Given the description of an element on the screen output the (x, y) to click on. 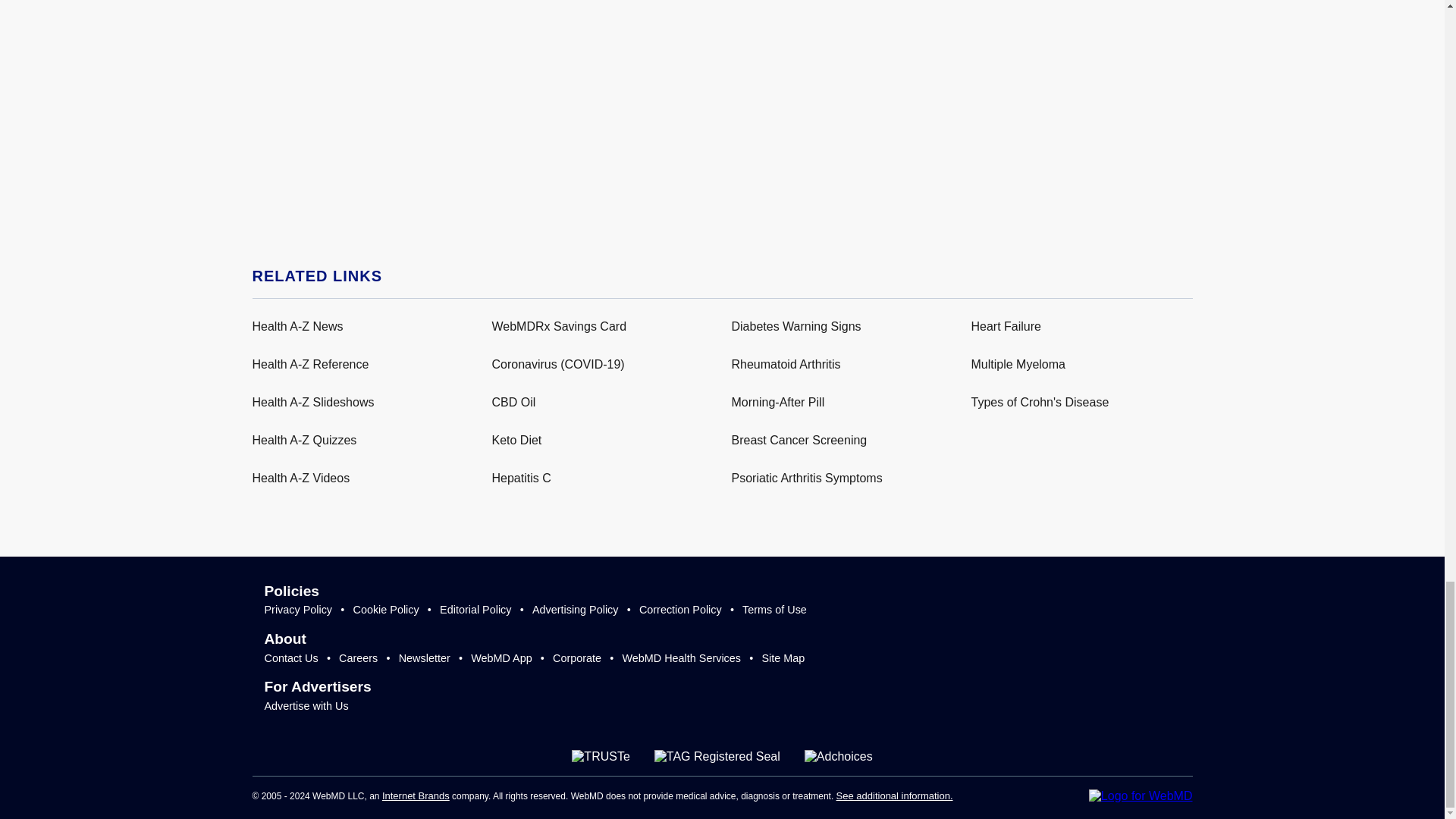
WebMD: Better information. Better health. (1140, 796)
TAG Registered Seal (716, 756)
TRUSTe Privacy Certification (600, 756)
Adchoices (838, 756)
